Given the description of an element on the screen output the (x, y) to click on. 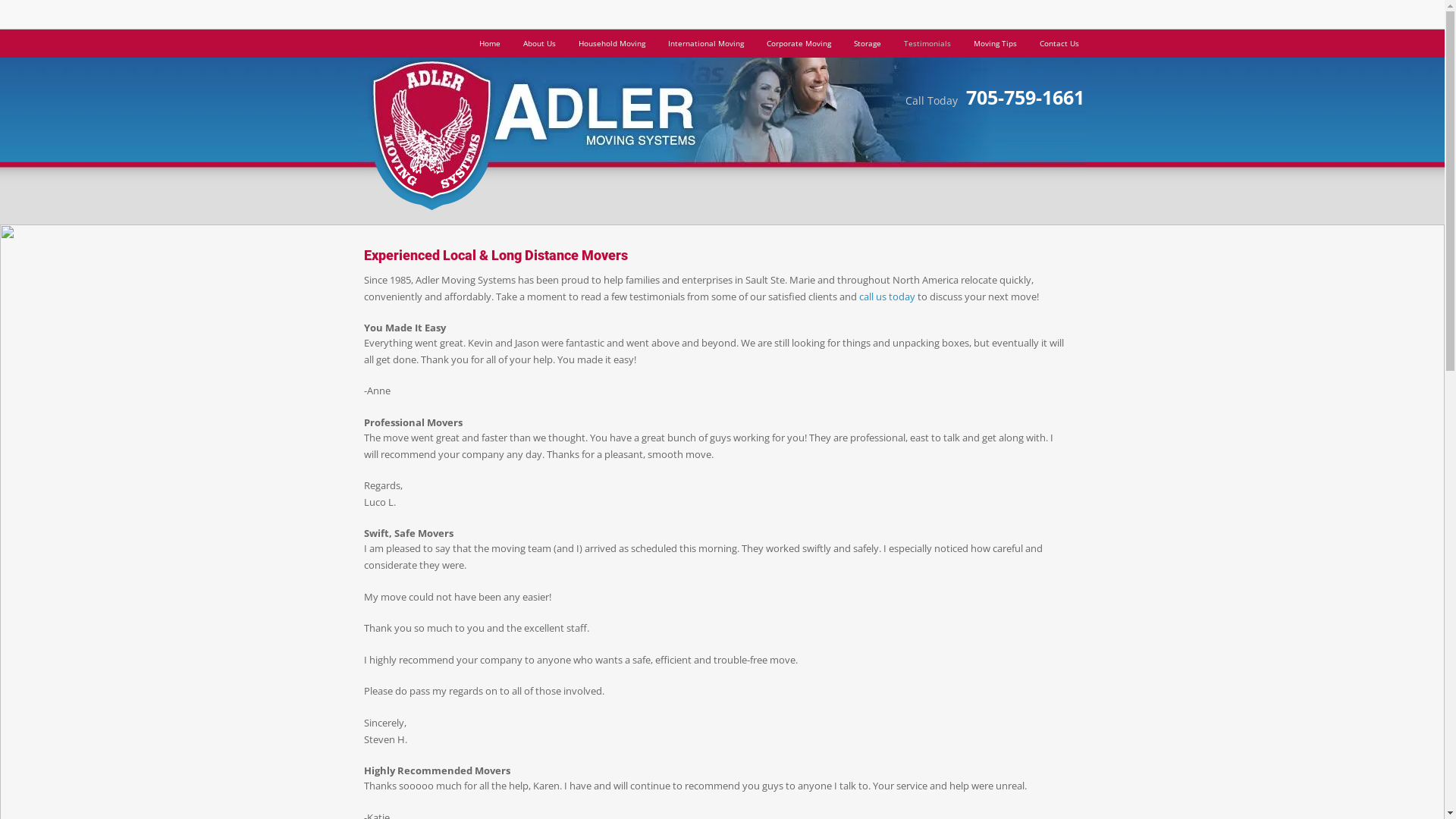
Moving Tips Element type: text (994, 42)
Storage Element type: text (866, 42)
Testimonials Element type: text (926, 42)
About Us Element type: text (538, 42)
Household Moving Element type: text (611, 42)
705-759-1661 Element type: text (1025, 101)
Corporate Moving Element type: text (798, 42)
Home Element type: text (489, 42)
call us today Element type: text (886, 297)
Contact Us Element type: text (1059, 42)
International Moving Element type: text (705, 42)
